Given the description of an element on the screen output the (x, y) to click on. 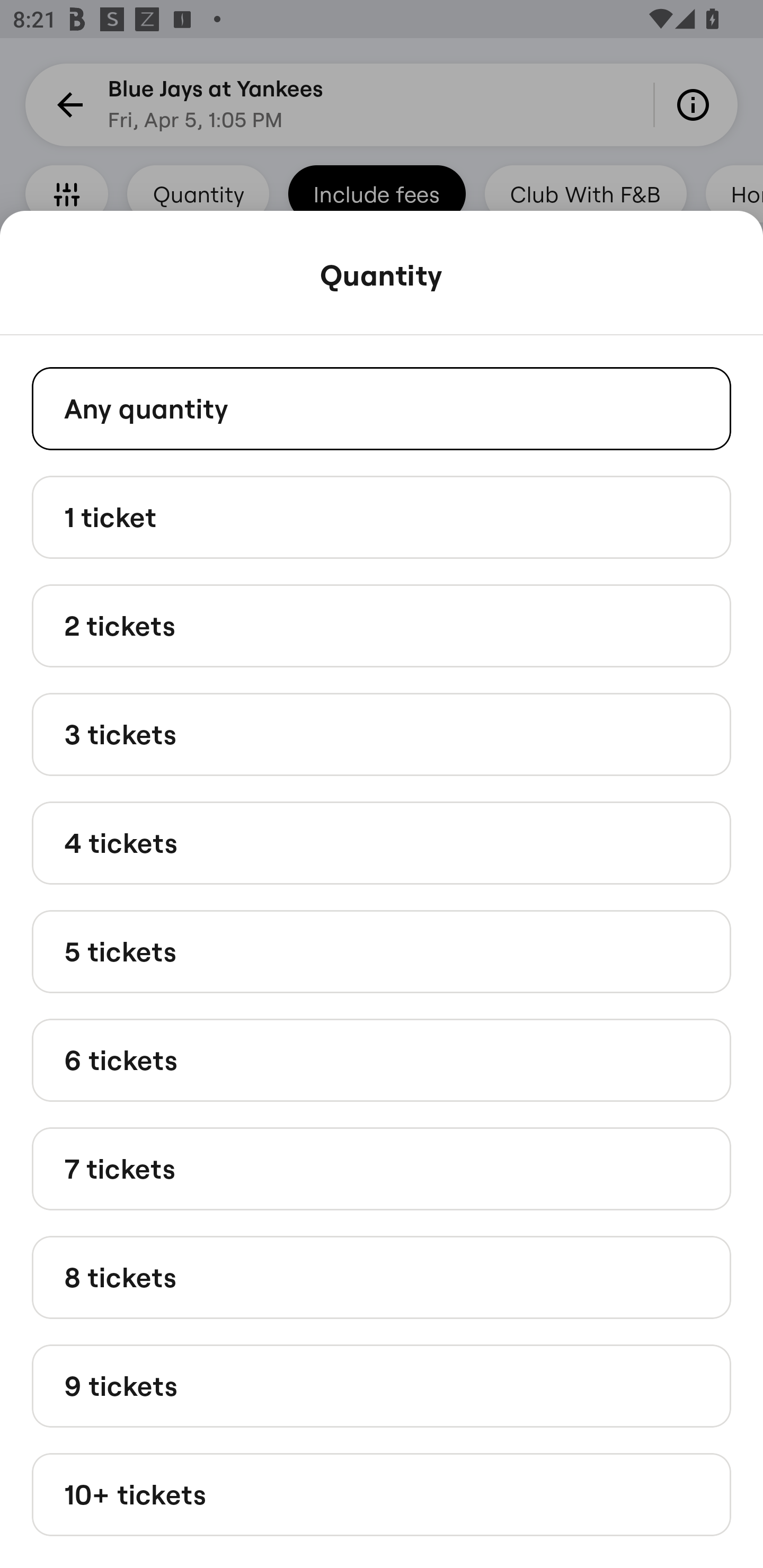
Any quantity (381, 408)
1 ticket (381, 516)
2 tickets (381, 625)
3 tickets (381, 734)
4 tickets (381, 842)
5 tickets (381, 950)
6 tickets (381, 1060)
7 tickets (381, 1168)
Opening Day - Commemorative Ticket (381, 1285)
9 tickets (381, 1384)
10+ tickets (381, 1494)
